Given the description of an element on the screen output the (x, y) to click on. 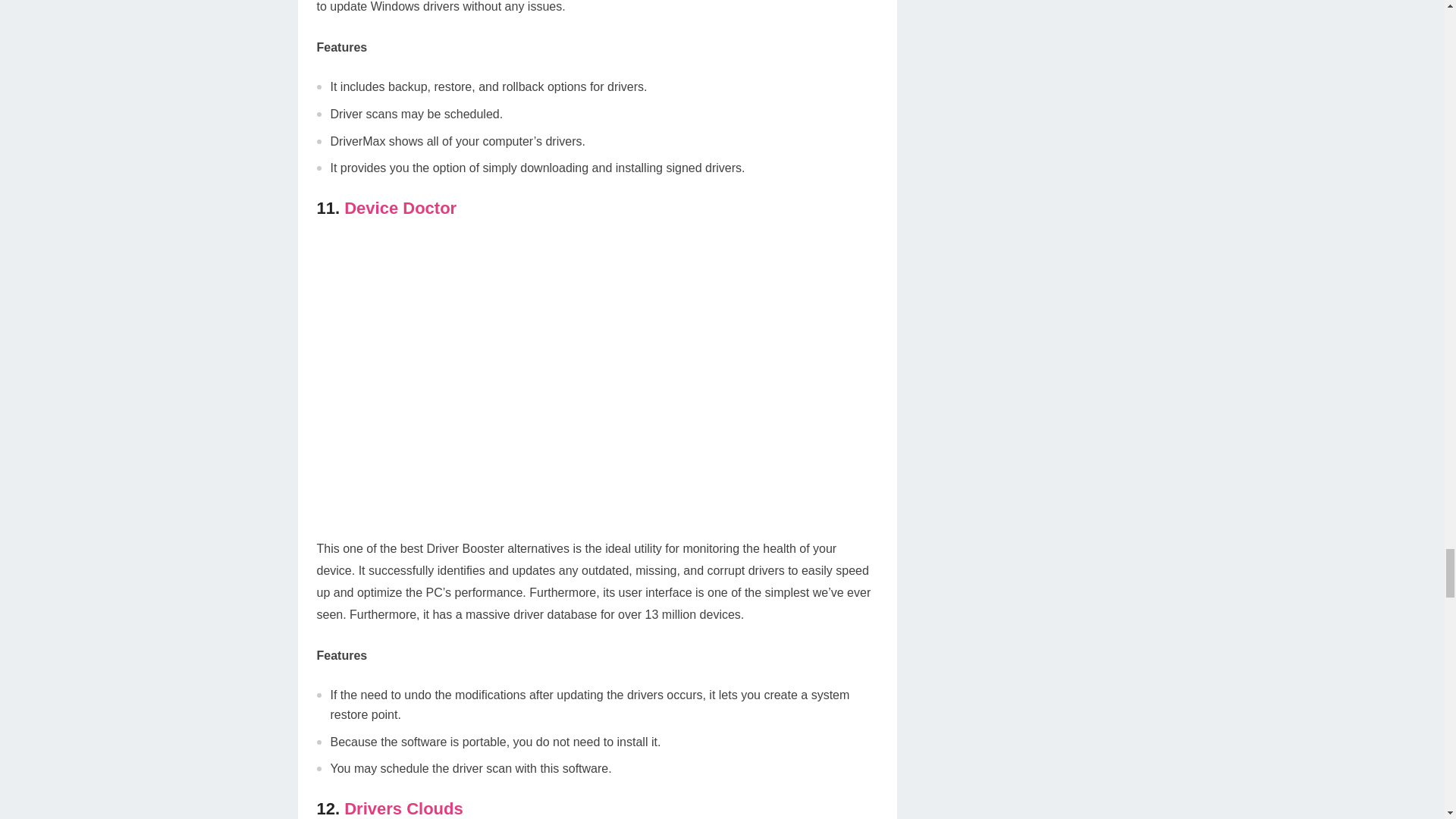
Device Doctor (400, 208)
Drivers Clouds (403, 808)
